Given the description of an element on the screen output the (x, y) to click on. 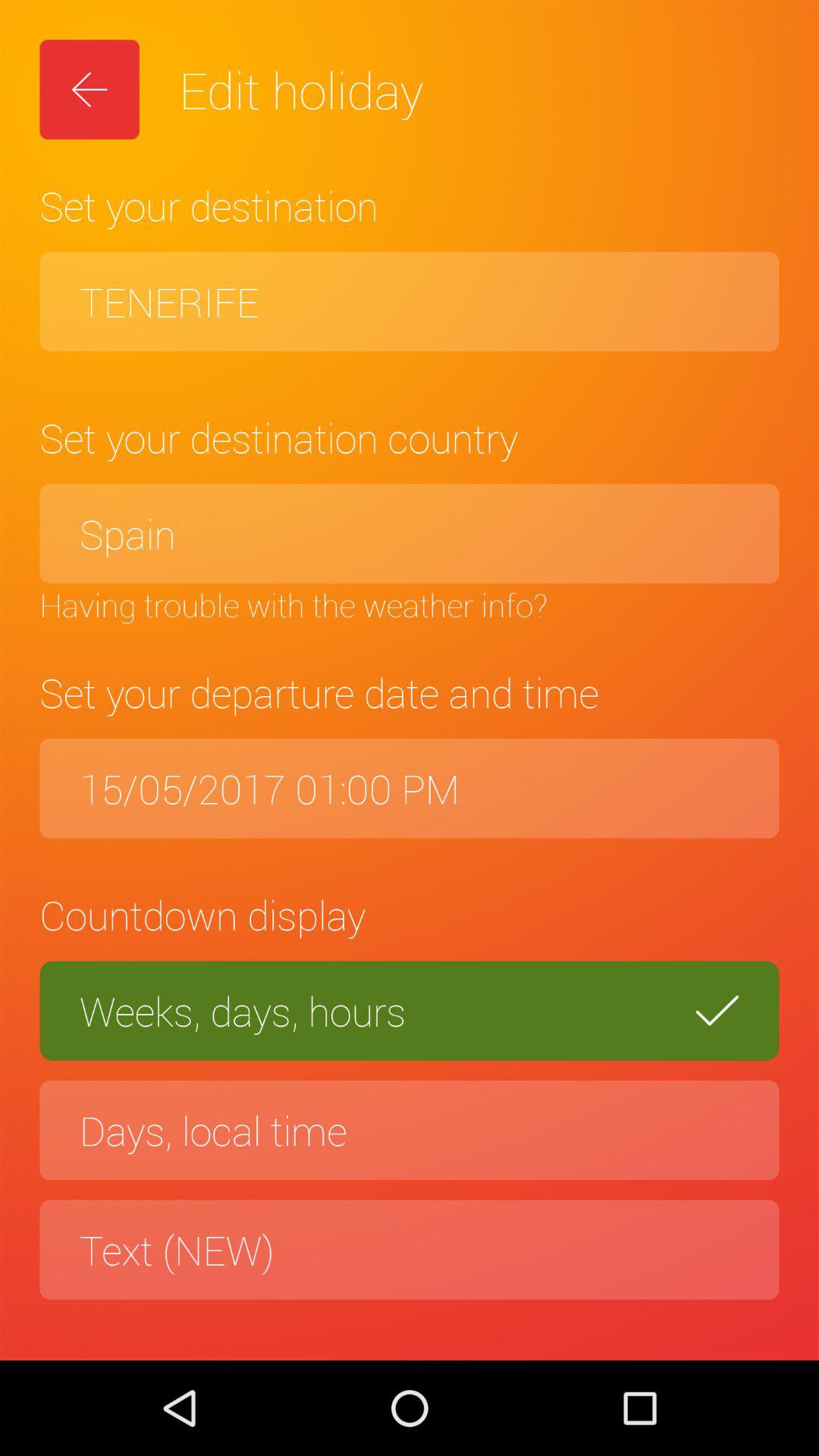
flip until the having trouble with (409, 604)
